Given the description of an element on the screen output the (x, y) to click on. 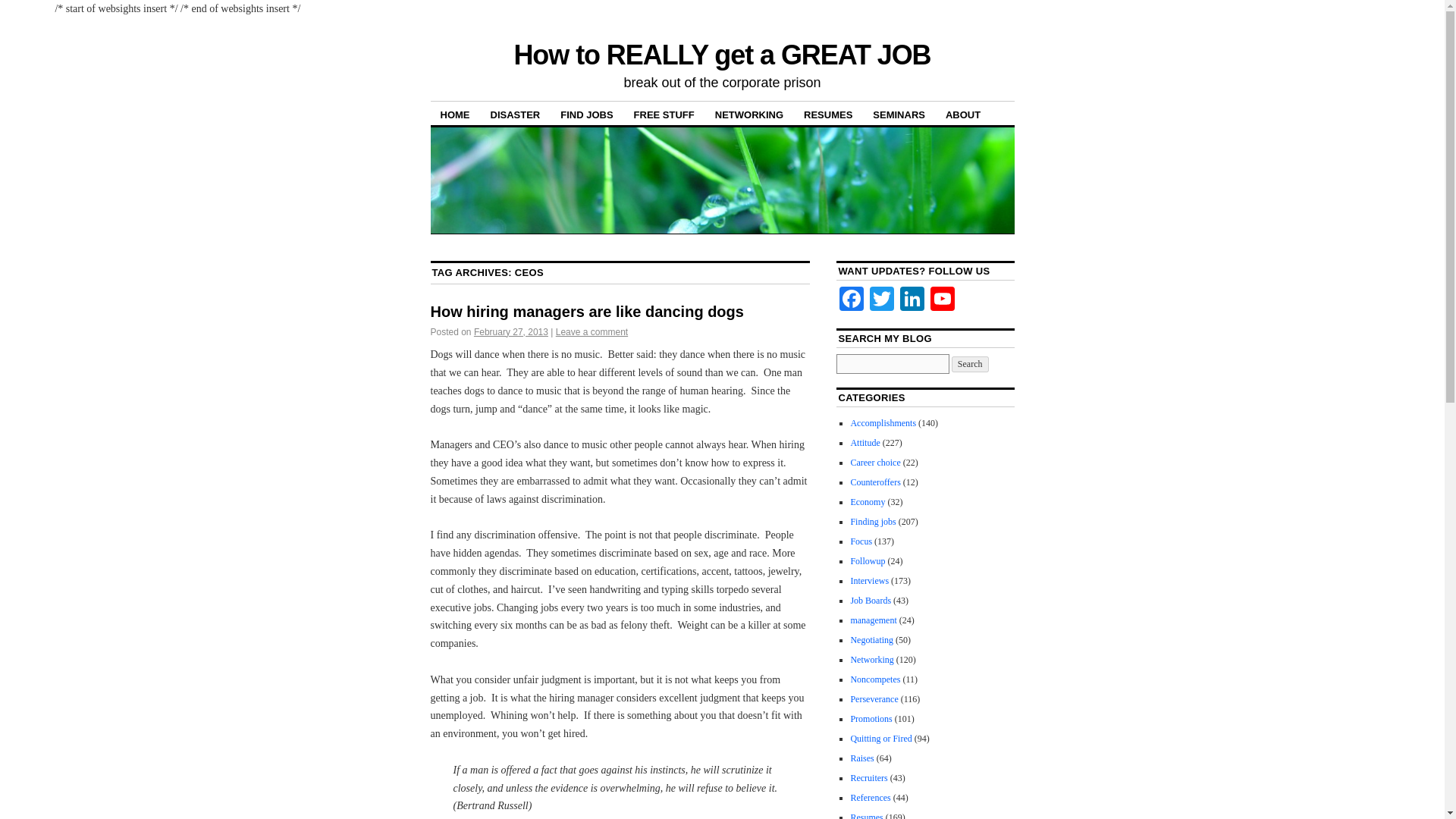
LinkedIn (911, 300)
YouTube Channel (942, 300)
How hiring managers are like dancing dogs (587, 311)
Focus (861, 541)
How to REALLY get a GREAT JOB (721, 54)
LinkedIn Company (911, 300)
Facebook (850, 300)
Economy (867, 501)
Attitude (864, 442)
6:00 am (511, 331)
DISASTER (515, 113)
SEMINARS (898, 113)
FIND JOBS (586, 113)
How to REALLY get a GREAT JOB (721, 54)
Search (970, 364)
